Given the description of an element on the screen output the (x, y) to click on. 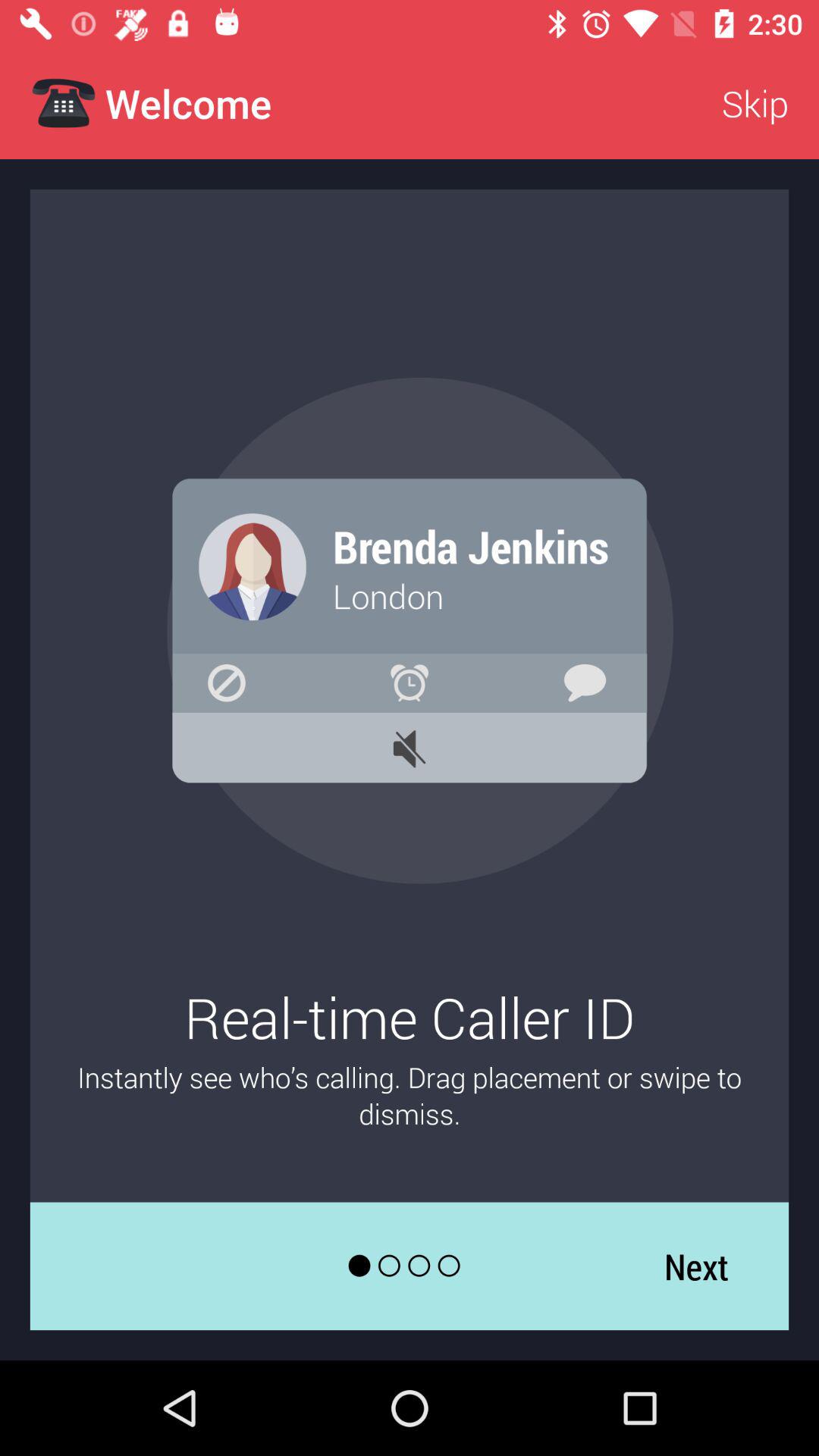
open item above the instantly see who icon (755, 103)
